Given the description of an element on the screen output the (x, y) to click on. 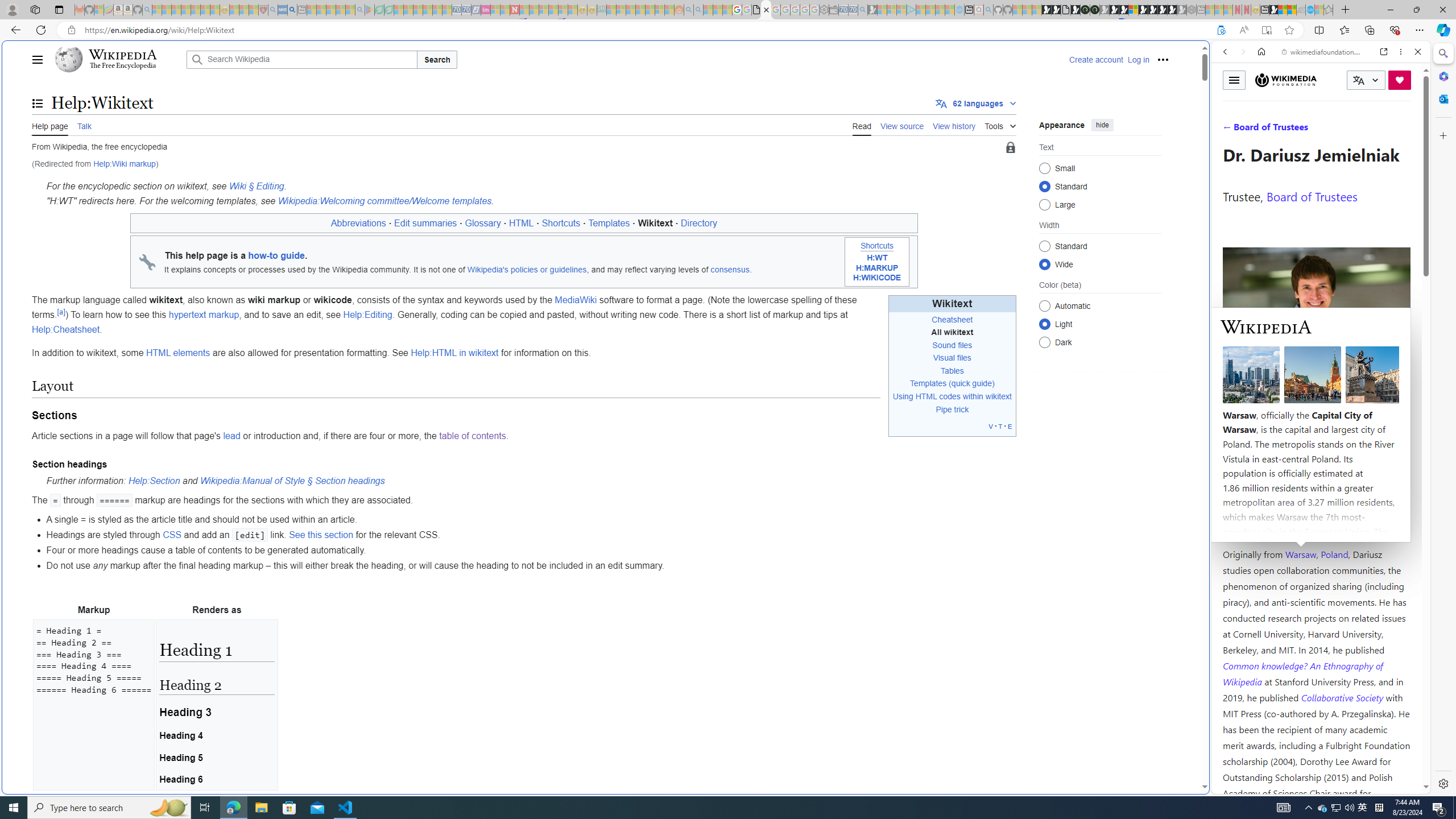
Tables (951, 370)
(quick guide) (971, 383)
All wikitext (951, 332)
how-to guide (275, 255)
H:WIKICODE (877, 278)
Main menu (37, 59)
